Given the description of an element on the screen output the (x, y) to click on. 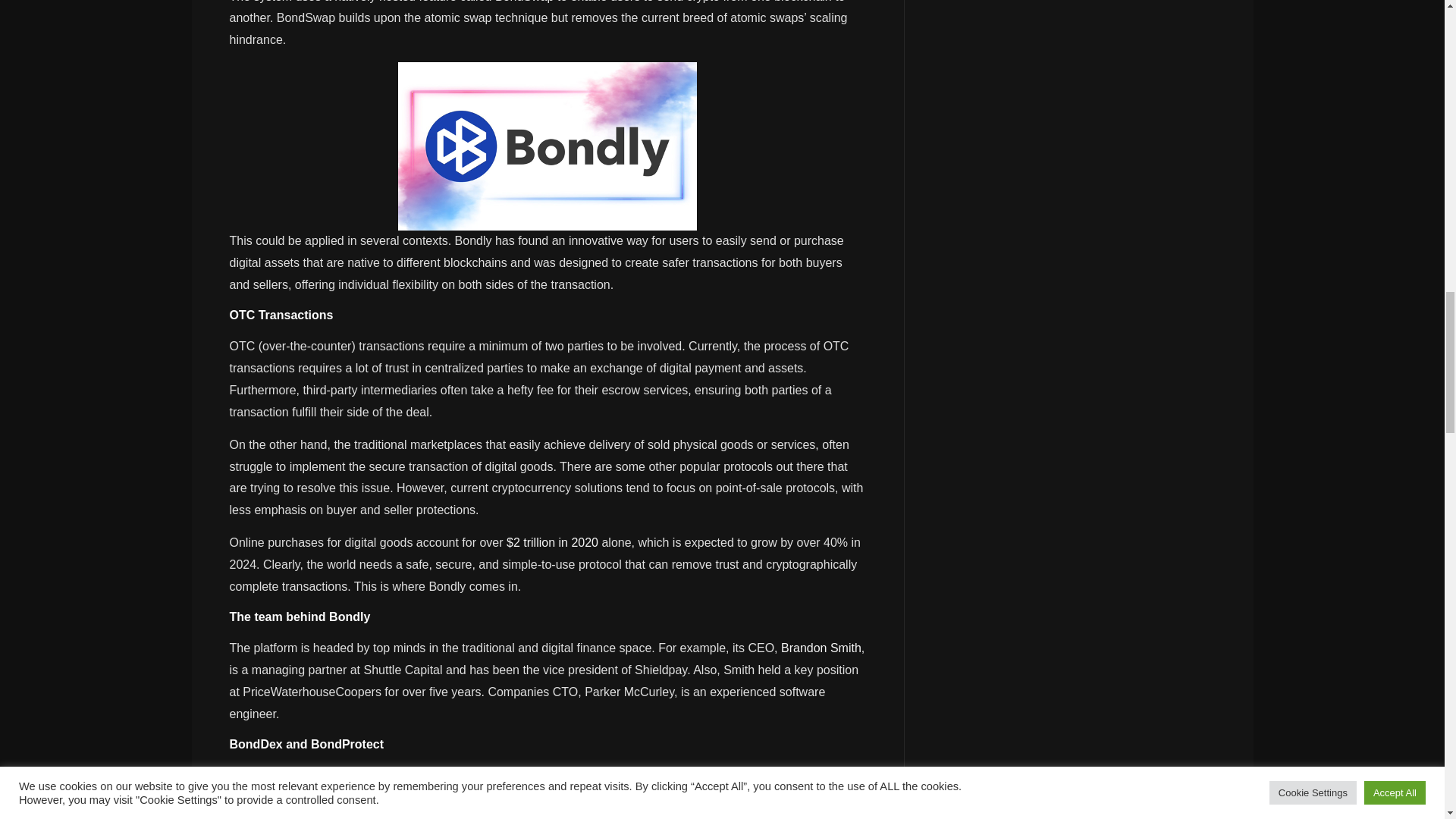
Brandon Smith (820, 647)
